Given the description of an element on the screen output the (x, y) to click on. 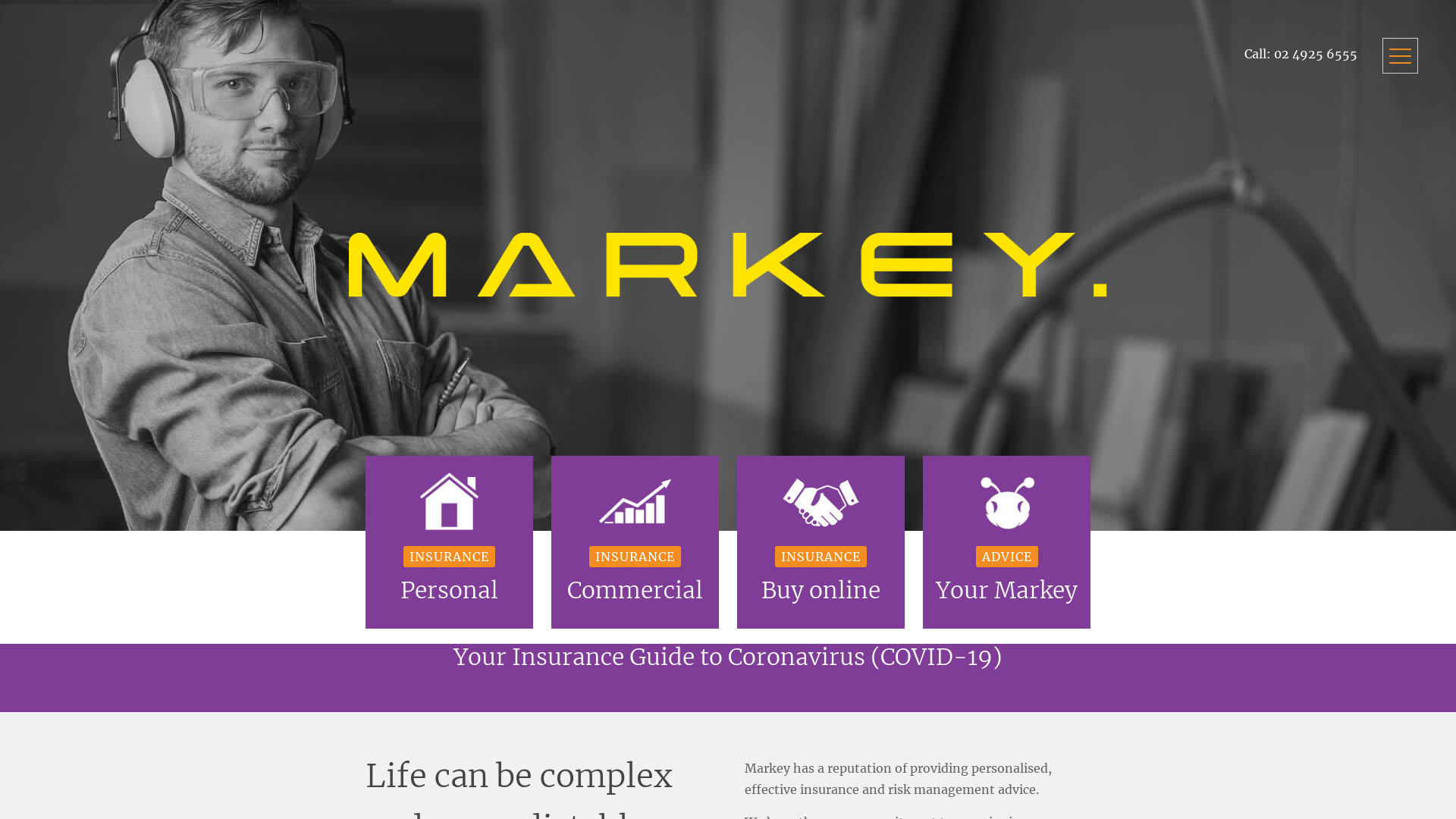
INSURANCE
Buy online Element type: text (820, 541)
INSURANCE
Personal Element type: text (449, 541)
Call: 02 4925 6555 Element type: text (1167, 53)
INSURANCE
Commercial Element type: text (634, 541)
ADVICE
Your Markey Element type: text (1006, 541)
Your Insurance Guide to Coronavirus (COVID-19) Element type: text (727, 656)
